Given the description of an element on the screen output the (x, y) to click on. 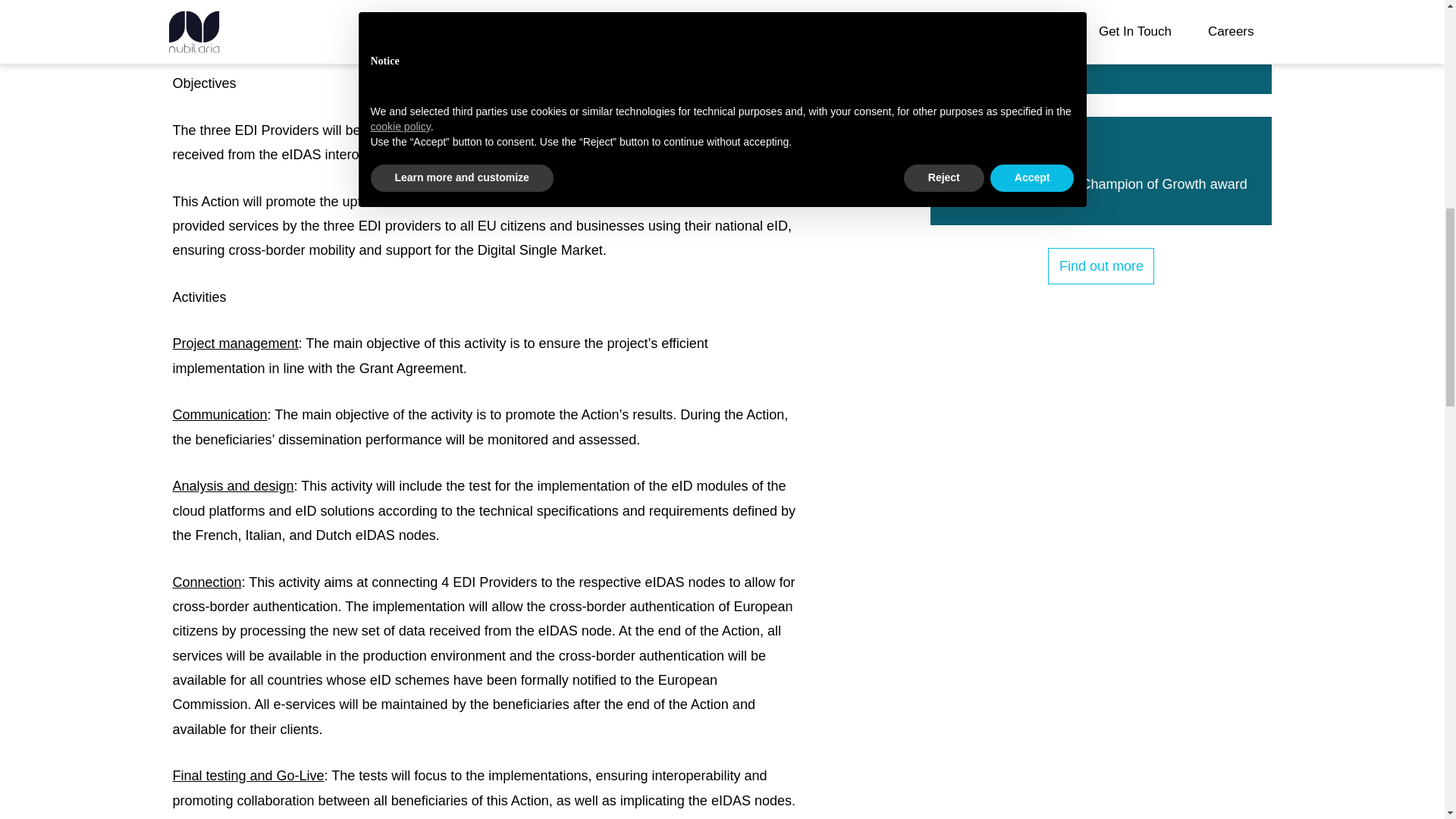
HeadON (319, 11)
Find out more (1101, 266)
Generix Group (542, 11)
